Given the description of an element on the screen output the (x, y) to click on. 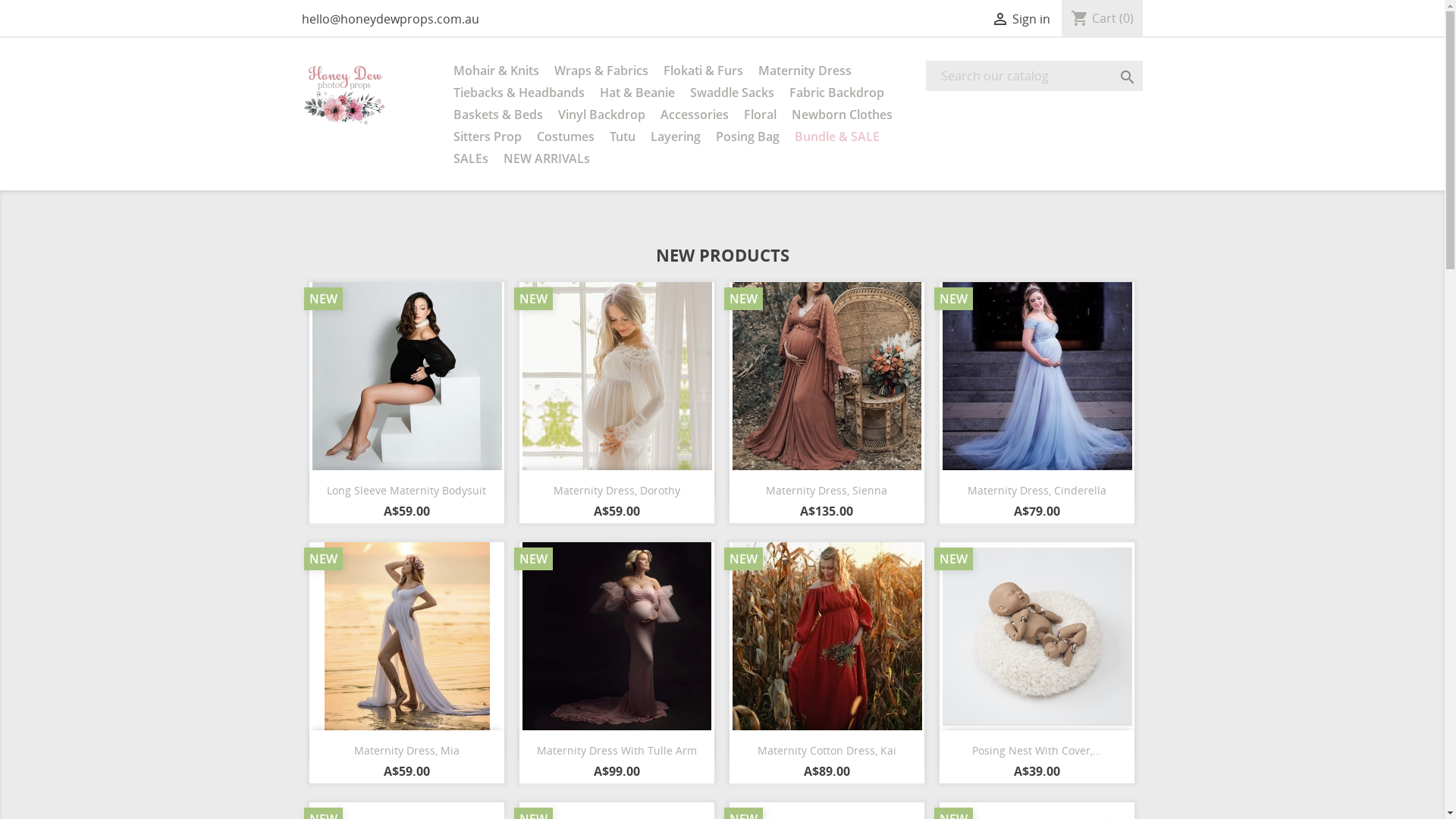
Olive Element type: text (826, 768)
Burnt Sienna Element type: text (851, 768)
Bundle & SALE Element type: text (837, 137)
Maroon Element type: text (629, 768)
Maternity Dress, Dorothy Element type: text (616, 490)
Maternity Dress Element type: text (804, 71)
Baskets & Beds Element type: text (497, 115)
Floral Element type: text (759, 115)
Layering Element type: text (675, 137)
hello@honeydewprops.com.au Element type: text (390, 18)
Tiebacks & Headbands Element type: text (518, 93)
Hat & Beanie Element type: text (636, 93)
Costumes Element type: text (565, 137)
NEW ARRIVALs Element type: text (546, 159)
Mohair & Knits Element type: text (495, 71)
Accessories Element type: text (693, 115)
Swaddle Sacks Element type: text (731, 93)
Maternity Dress, Mia Element type: text (405, 750)
Flokati & Furs Element type: text (702, 71)
SALEs Element type: text (470, 159)
Maternity Cotton Dress, Kai Element type: text (825, 750)
Tutu Element type: text (622, 137)
Vinyl Backdrop Element type: text (601, 115)
Sitters Prop Element type: text (487, 137)
Blue Element type: text (1023, 508)
Fabric Backdrop Element type: text (836, 93)
Black Element type: text (418, 508)
Posing Nest With Cover,... Element type: text (1036, 750)
Newborn Clothes Element type: text (842, 115)
White Element type: text (393, 508)
Maternity Dress, Cinderella Element type: text (1036, 490)
Posing Bag Element type: text (747, 137)
Long Sleeve Maternity Bodysuit Element type: text (406, 490)
Maternity Dress With Tulle Arm Element type: text (616, 750)
Cream Element type: text (800, 768)
Lavender Element type: text (1049, 508)
Wraps & Fabrics Element type: text (600, 71)
Maternity Dress, Sienna Element type: text (826, 490)
Pink Element type: text (603, 768)
